Given the description of an element on the screen output the (x, y) to click on. 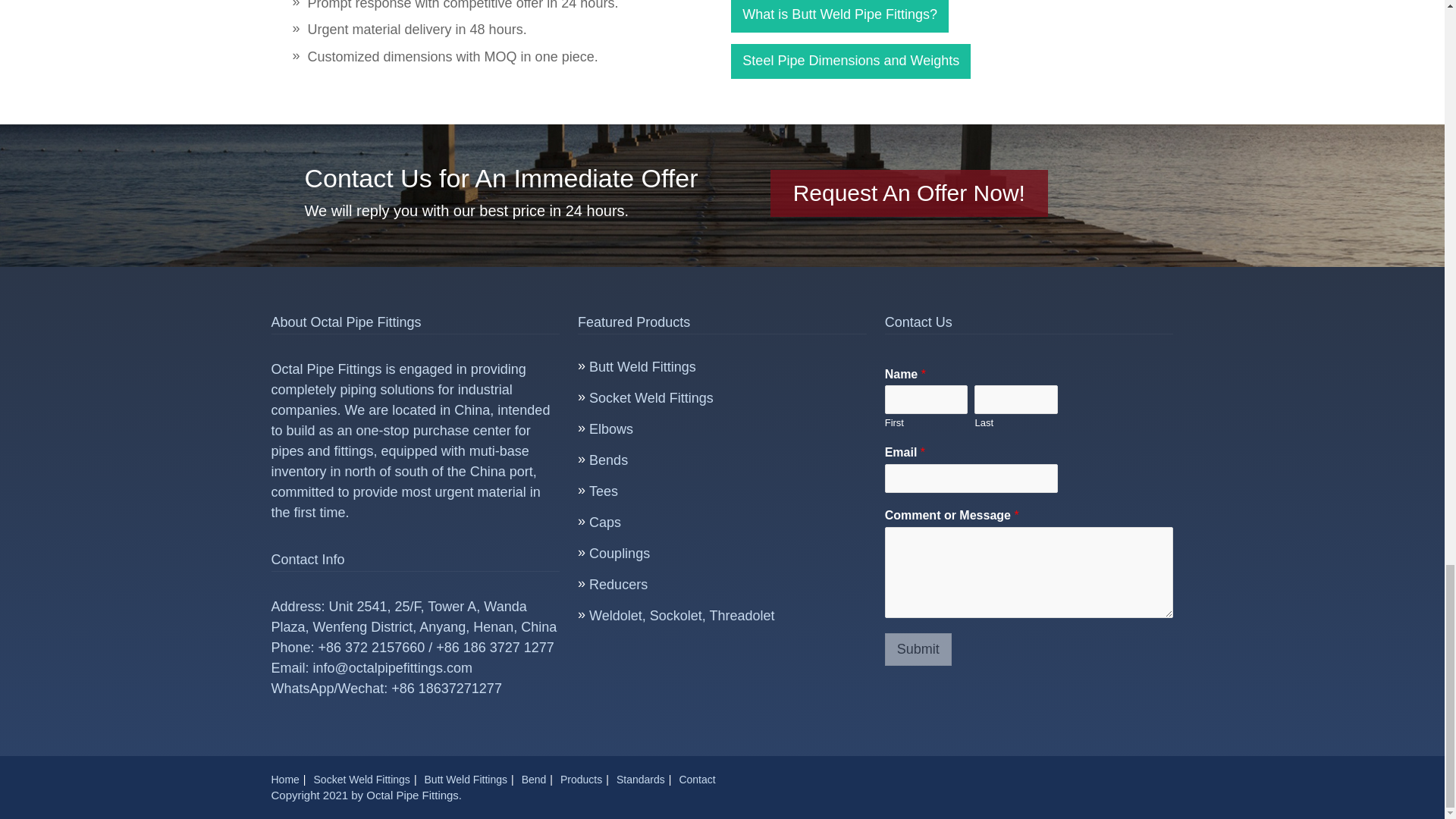
What is Butt Weld Pipe Fittings? (839, 16)
Steel Pipe Dimensions and Weights (850, 61)
